Given the description of an element on the screen output the (x, y) to click on. 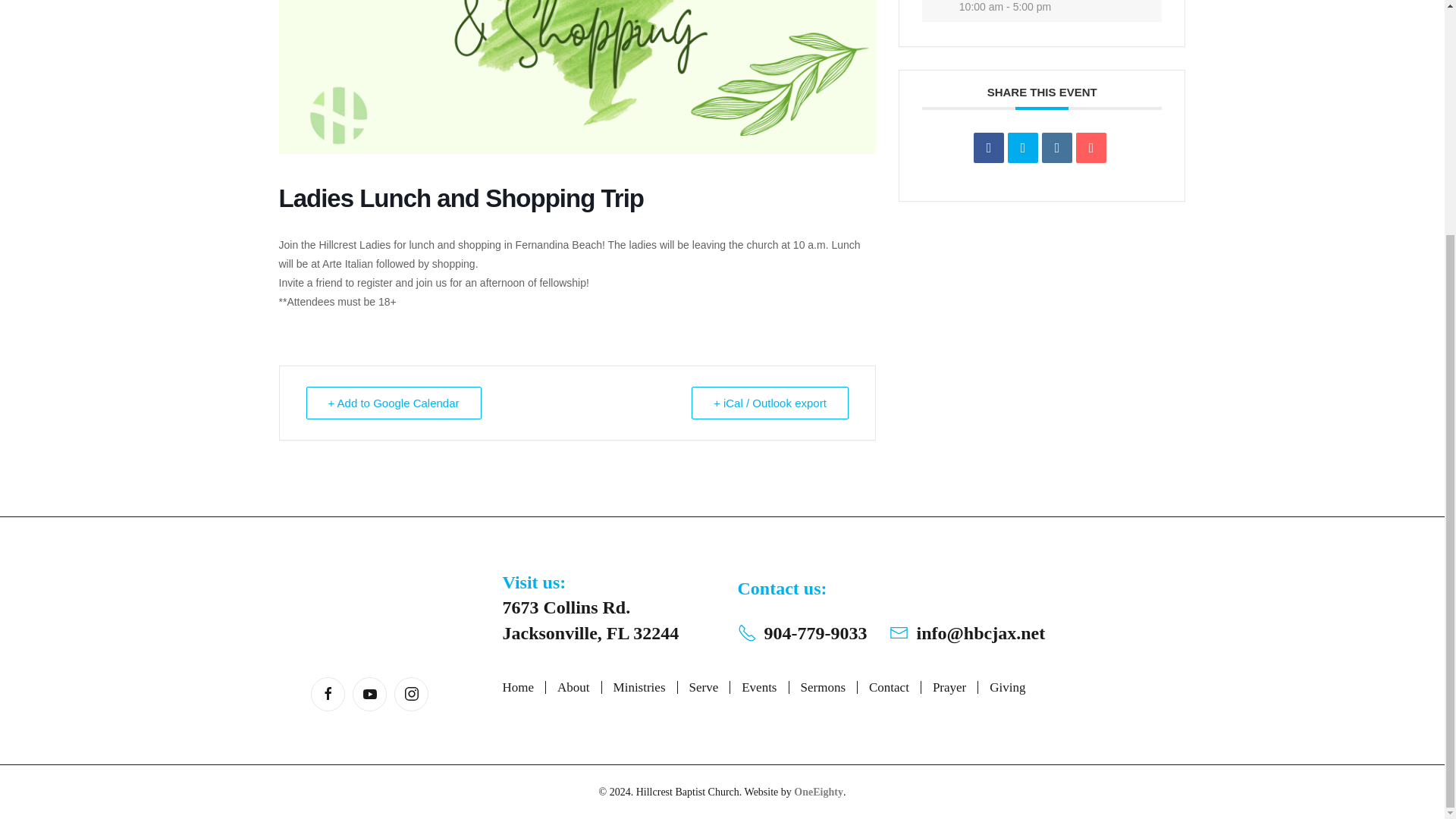
Email (1090, 147)
Tweet (1022, 147)
Linkedin (1056, 147)
Share on Facebook (989, 147)
